Given the description of an element on the screen output the (x, y) to click on. 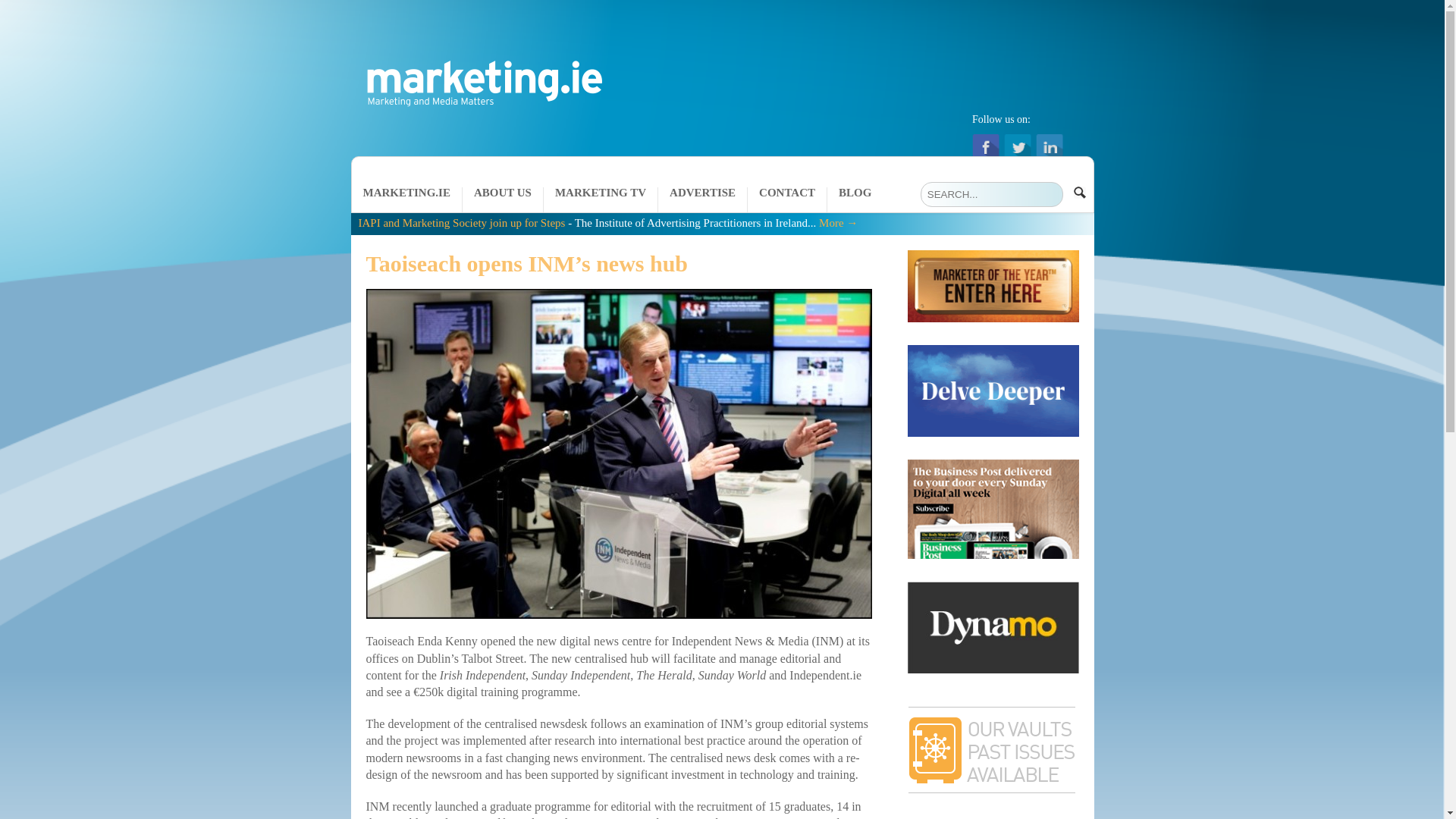
ABOUT US (503, 199)
IAPI and Marketing Society join up for Steps (461, 223)
ADVERTISE (702, 199)
Marketing.ie (480, 114)
CONTACT (787, 199)
Search... (991, 194)
MARKETING.IE (406, 199)
BLOG (854, 199)
MARKETING TV (600, 199)
